Given the description of an element on the screen output the (x, y) to click on. 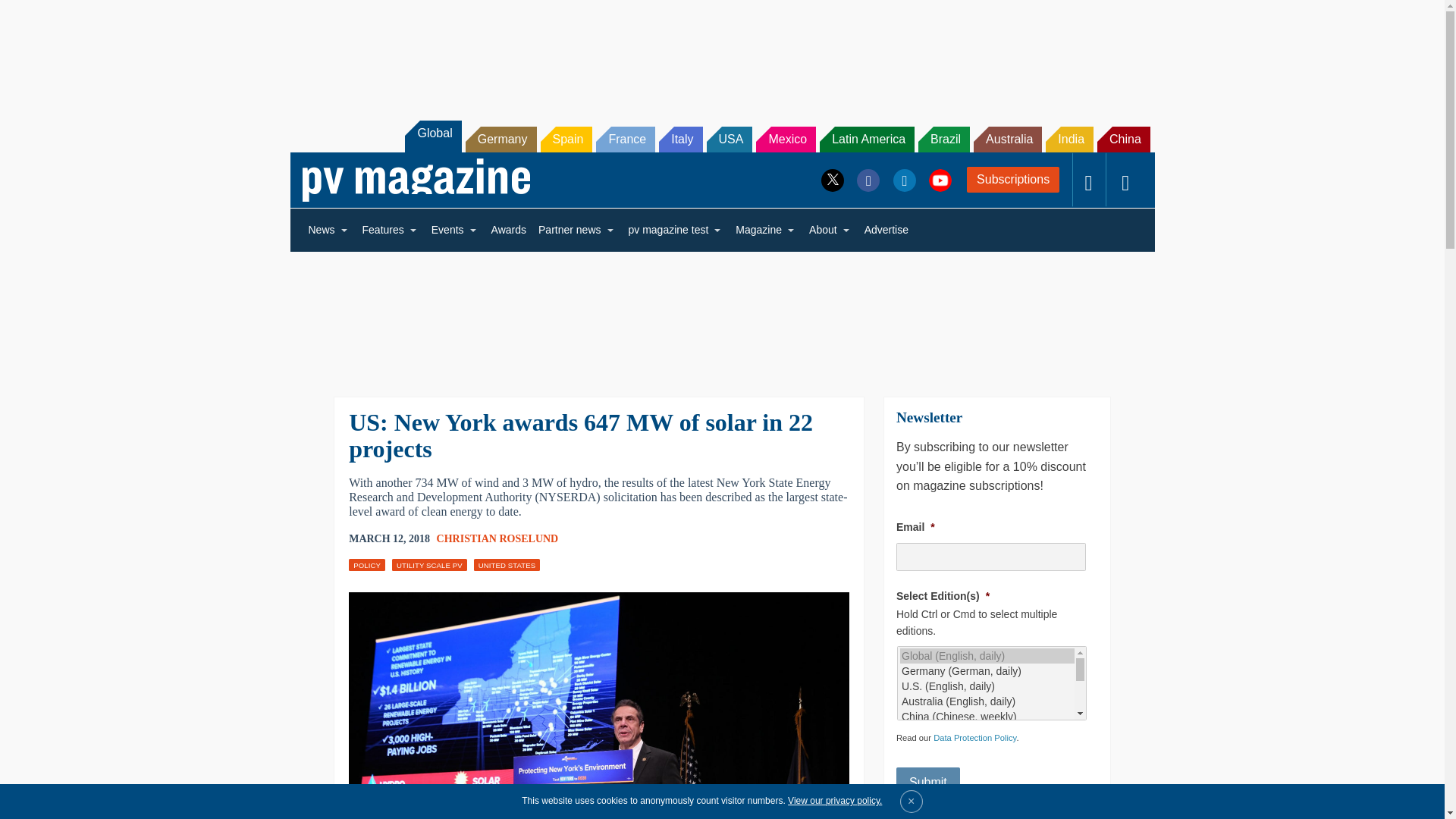
China (1123, 139)
Germany (501, 139)
Global (432, 136)
Mexico (785, 139)
Brazil (943, 139)
Italy (680, 139)
Submit (927, 782)
India (1069, 139)
pv magazine - Photovoltaics Markets and Technology (415, 180)
3rd party ad content (721, 314)
Latin America (866, 139)
pv magazine - Photovoltaics Markets and Technology (415, 179)
Spain (566, 139)
Australia (1008, 139)
3rd party ad content (721, 51)
